Given the description of an element on the screen output the (x, y) to click on. 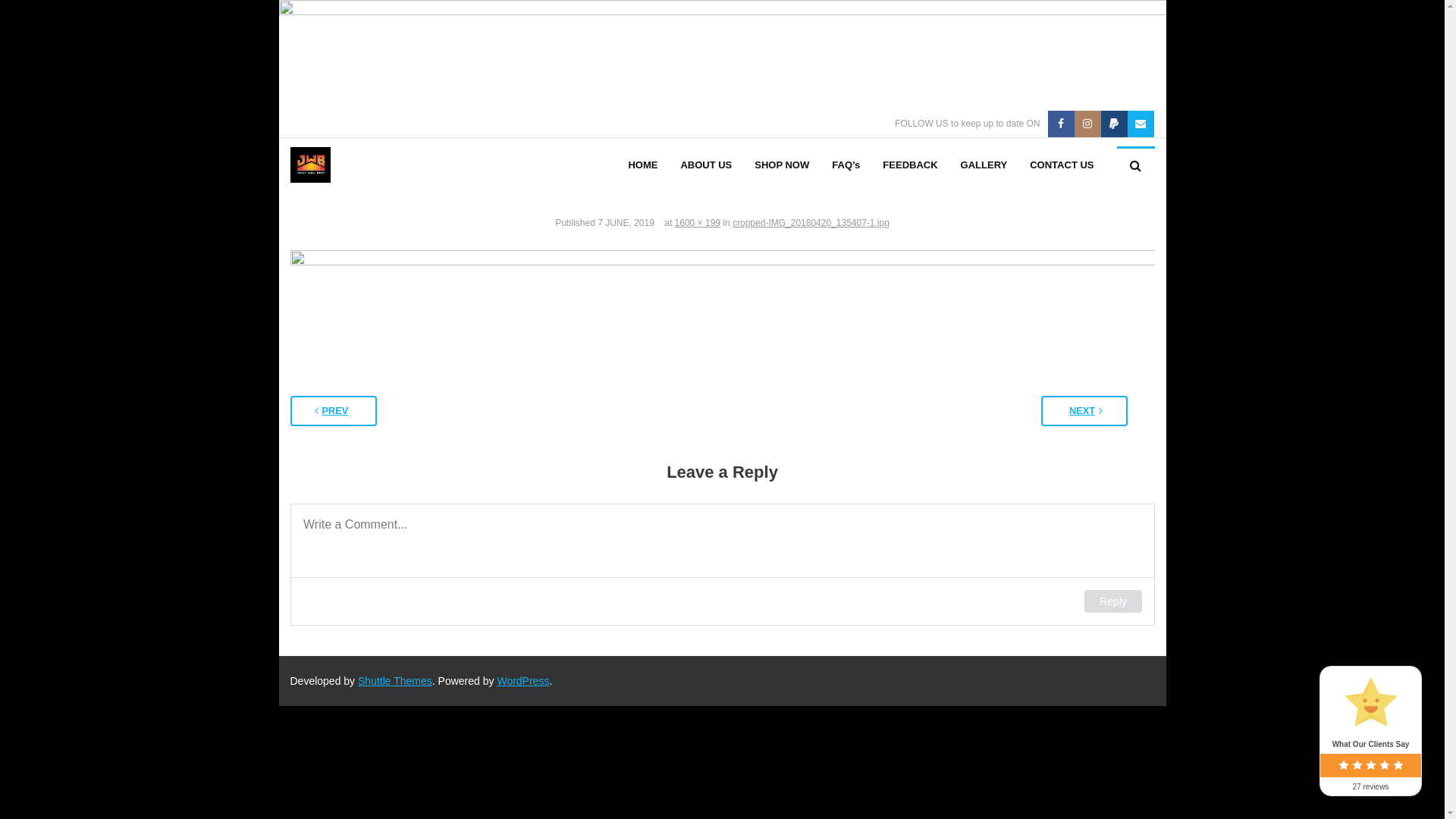
GALLERY Element type: text (984, 164)
Search Element type: text (37, 20)
PREV Element type: text (332, 410)
CONTACT US Element type: text (1061, 164)
FEEDBACK Element type: text (909, 164)
Comment Form Element type: hover (721, 564)
ABOUT US Element type: text (705, 164)
cropped-IMG_20180420_135407-1.jpg Element type: text (810, 222)
Shuttle Themes Element type: text (394, 680)
HOME Element type: text (642, 164)
NEXT Element type: text (1083, 410)
WordPress Element type: text (522, 680)
SHOP NOW Element type: text (781, 164)
